Given the description of an element on the screen output the (x, y) to click on. 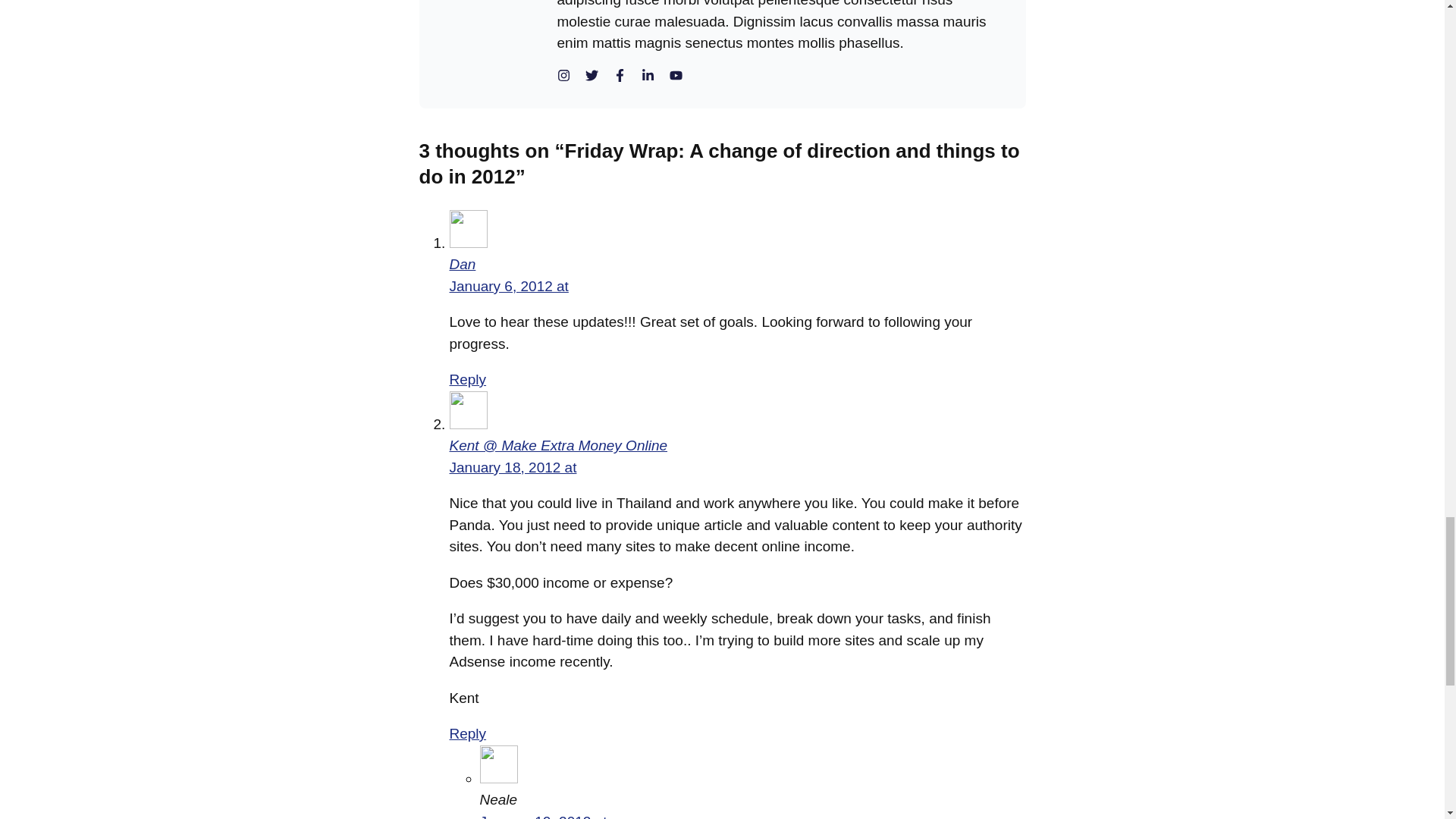
Reply (467, 733)
Dan (462, 263)
Reply (467, 379)
January 18, 2012 at (512, 467)
January 6, 2012 at (507, 286)
January 19, 2012 at (543, 816)
